Given the description of an element on the screen output the (x, y) to click on. 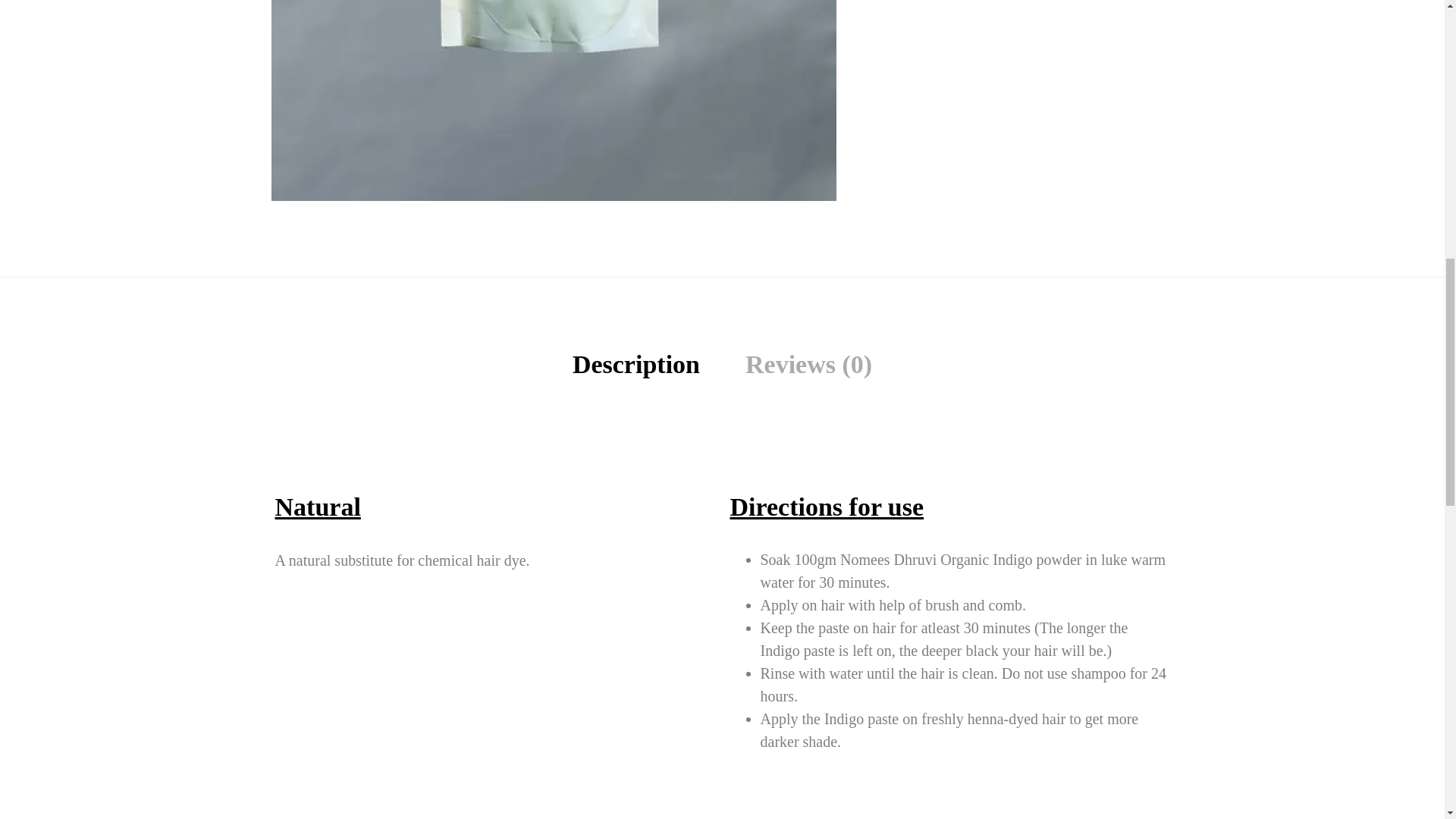
Indigo Powder 2-min (1118, 100)
Indigo Powder 1-min (553, 100)
